Given the description of an element on the screen output the (x, y) to click on. 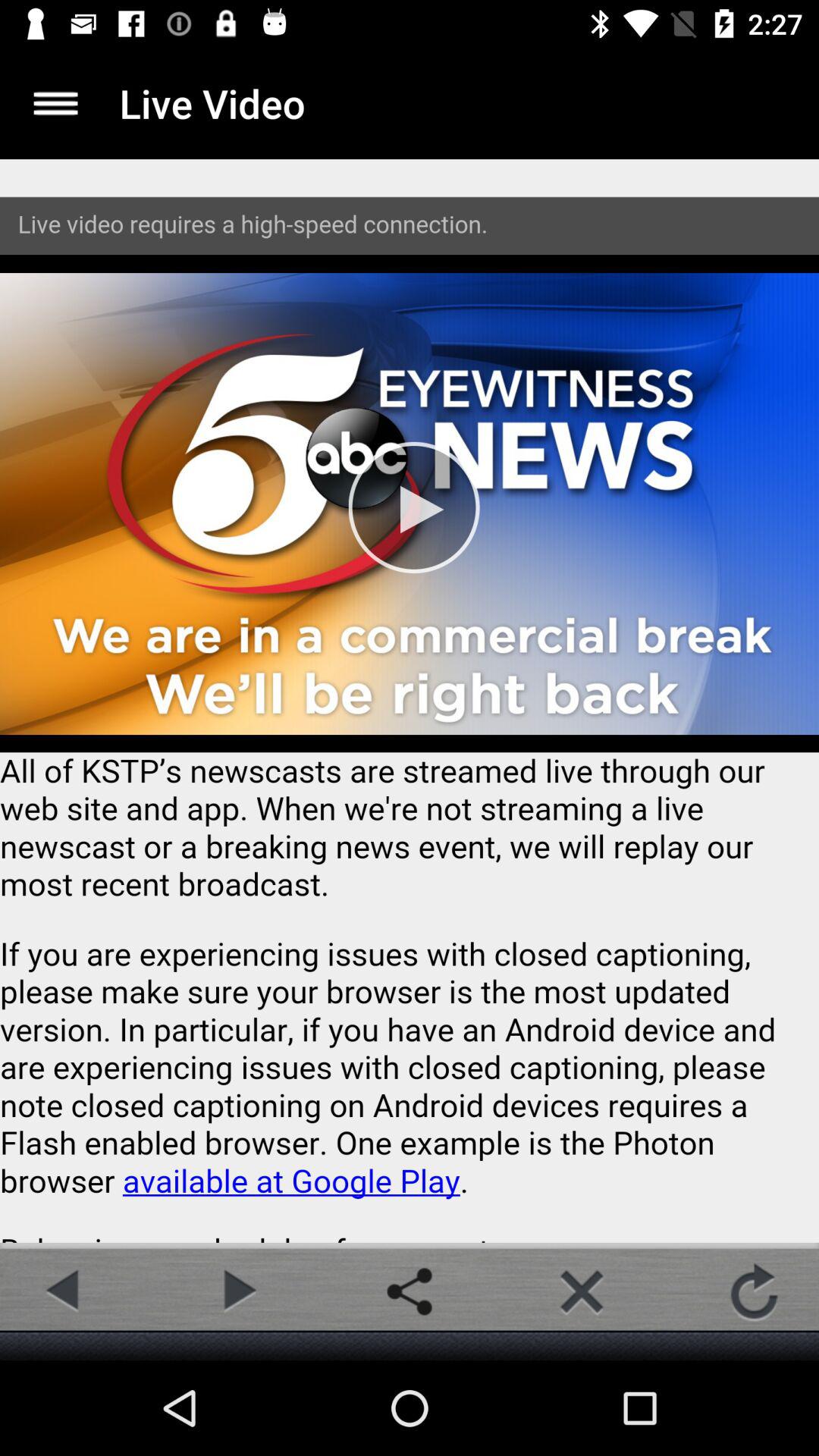
go to customize (55, 103)
